Given the description of an element on the screen output the (x, y) to click on. 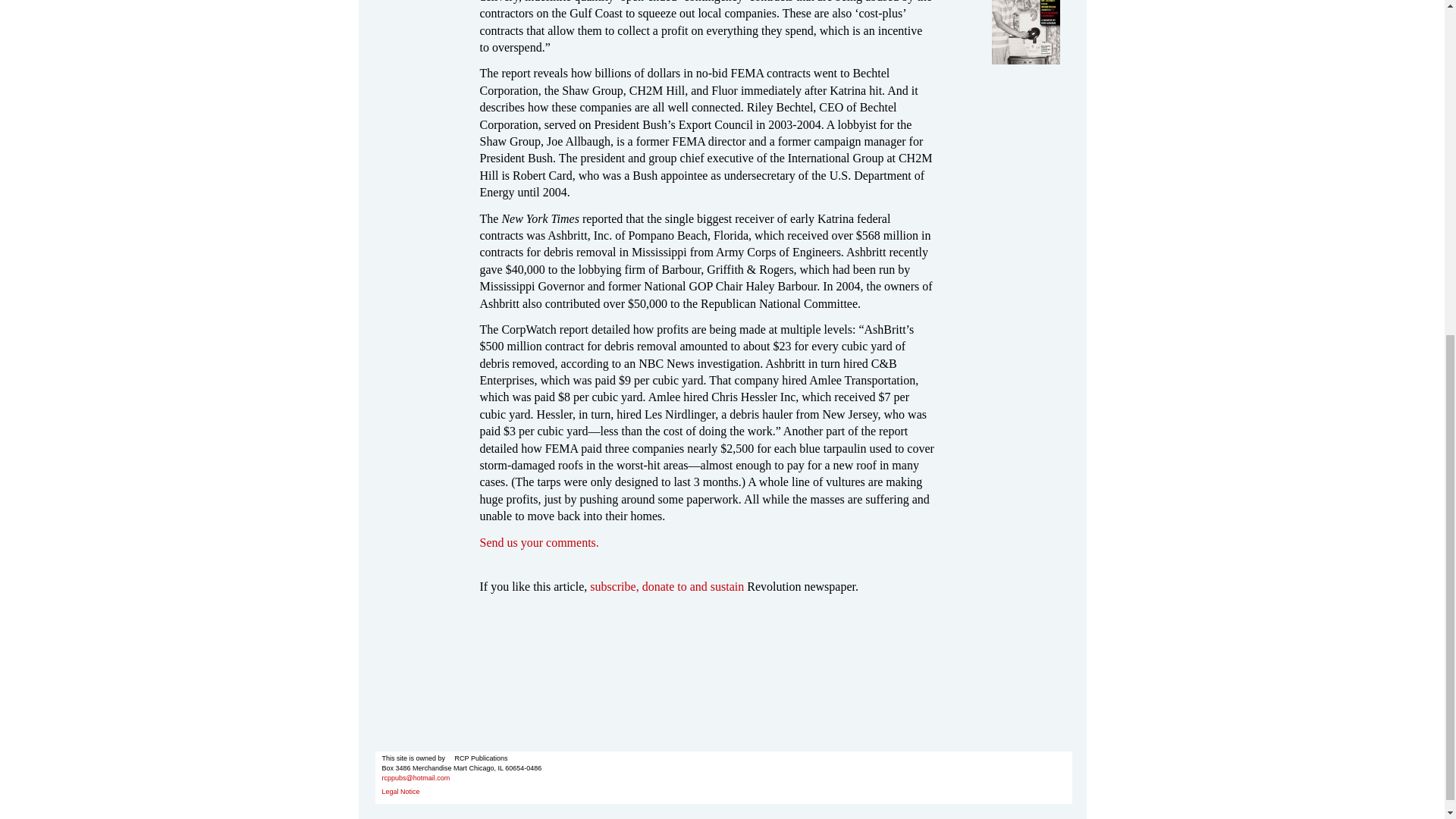
subscribe, donate to and sustain (666, 585)
Legal Notice (400, 791)
Send us your comments. (538, 542)
